Given the description of an element on the screen output the (x, y) to click on. 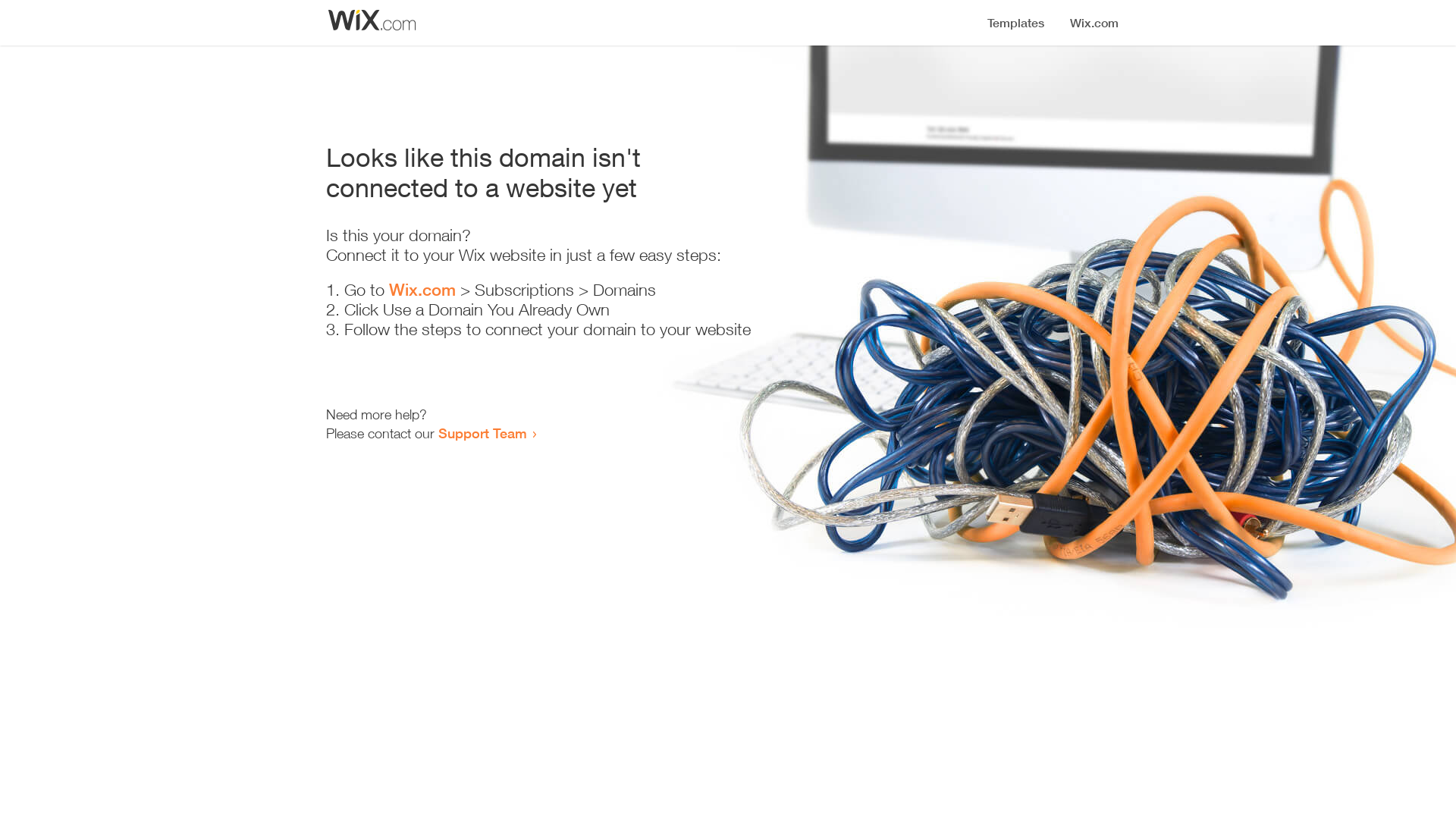
Support Team Element type: text (482, 432)
Wix.com Element type: text (422, 289)
